Given the description of an element on the screen output the (x, y) to click on. 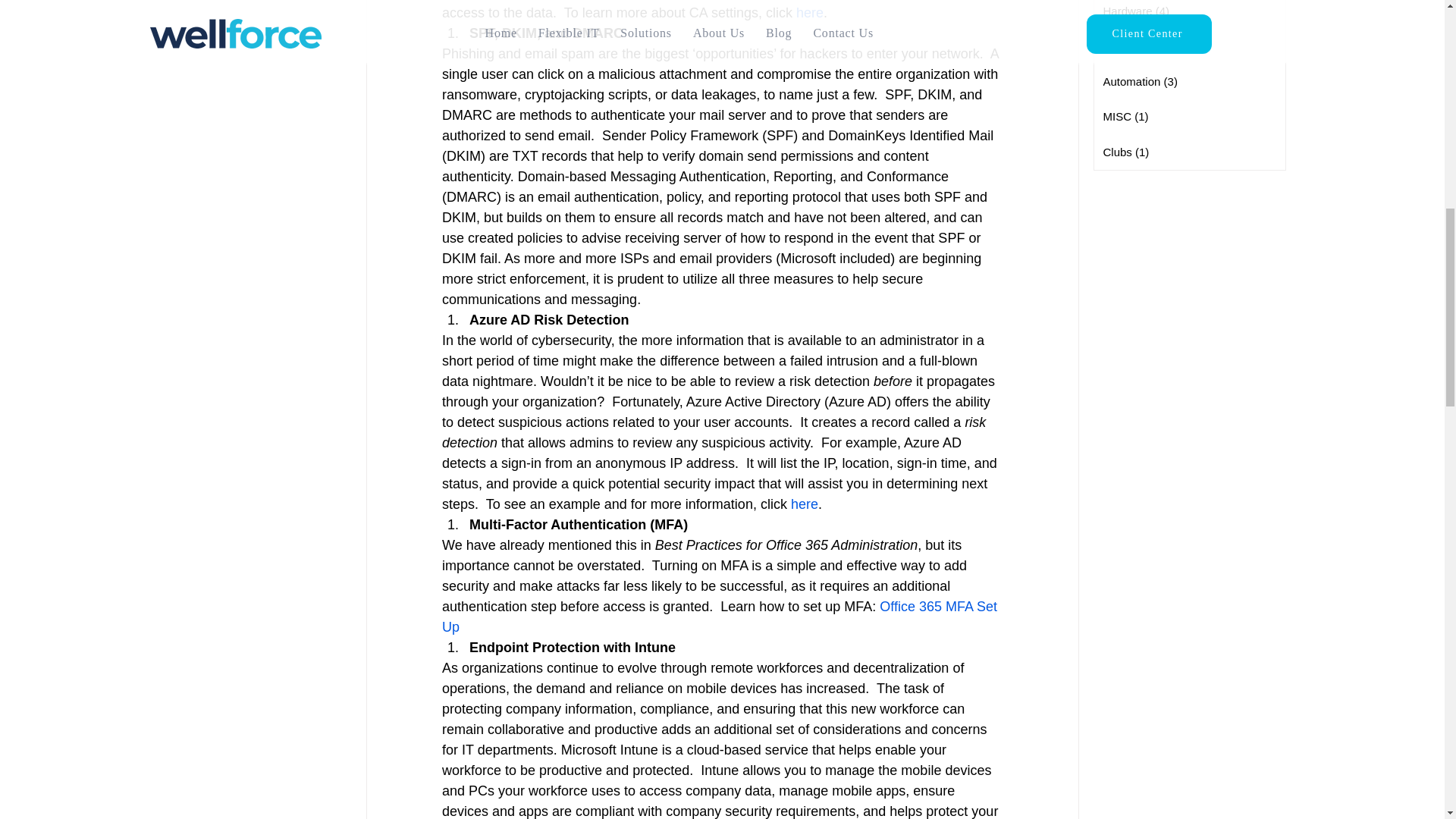
here (803, 503)
Office 365 MFA Set Up (720, 616)
here (808, 12)
